Given the description of an element on the screen output the (x, y) to click on. 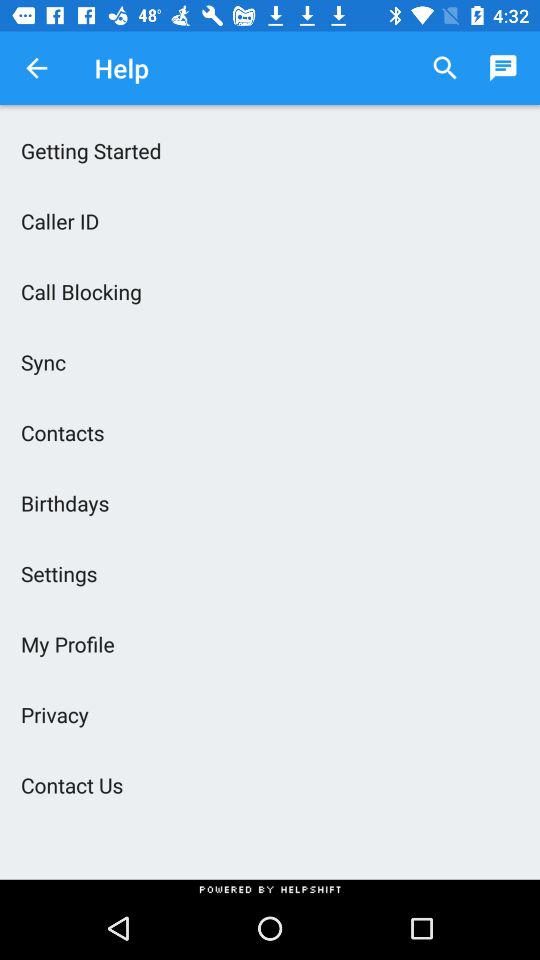
click the my profile icon (270, 643)
